Given the description of an element on the screen output the (x, y) to click on. 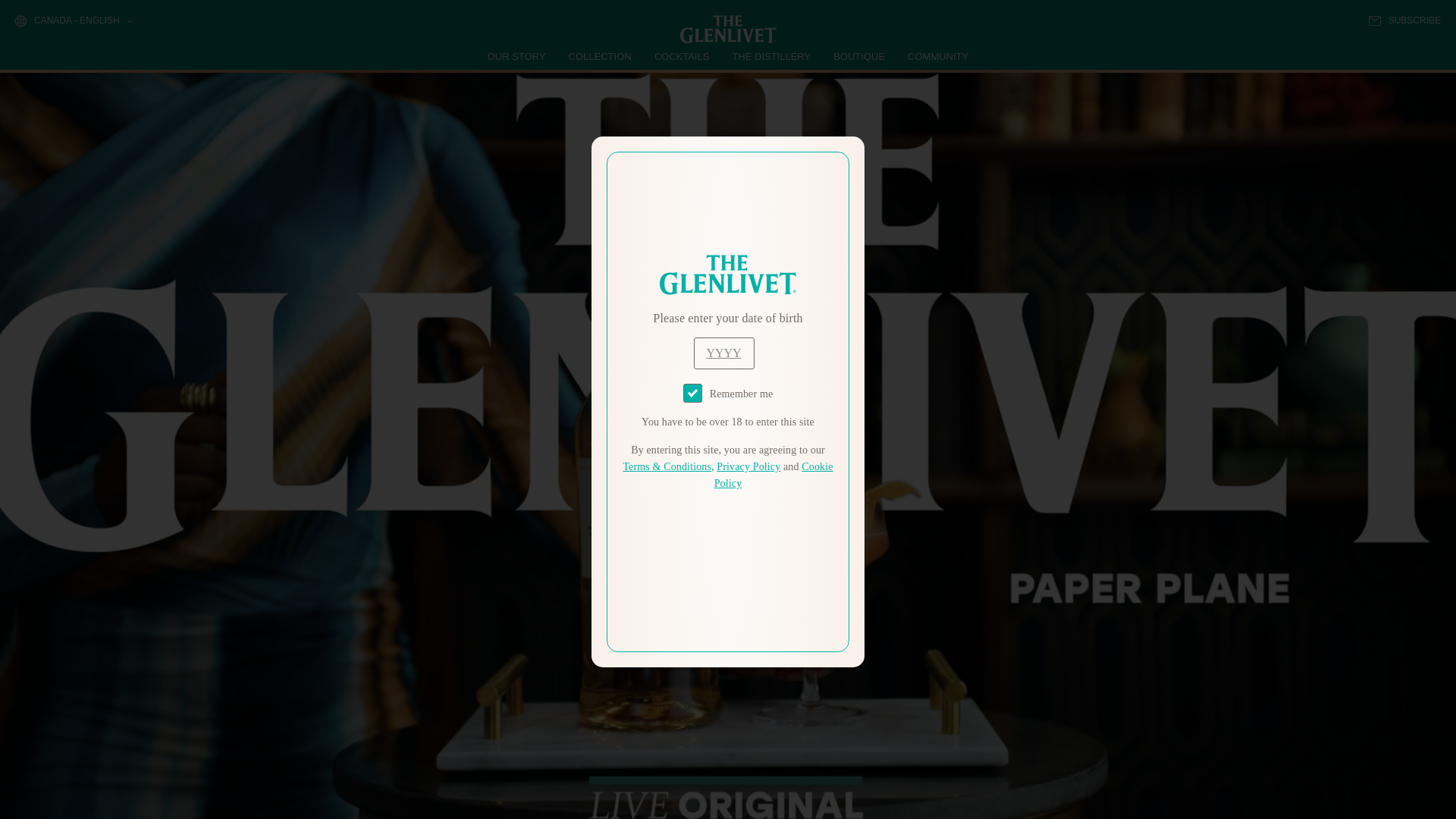
THE DISTILLERY (771, 56)
COMMUNITY (937, 56)
Privacy Policy (748, 466)
BOUTIQUE (858, 56)
year (723, 353)
OUR STORY (516, 56)
COLLECTION (600, 56)
SUBSCRIBE (1404, 20)
Cookie Policy (773, 474)
CANADA - ENGLISH (73, 21)
COCKTAILS (681, 56)
